Given the description of an element on the screen output the (x, y) to click on. 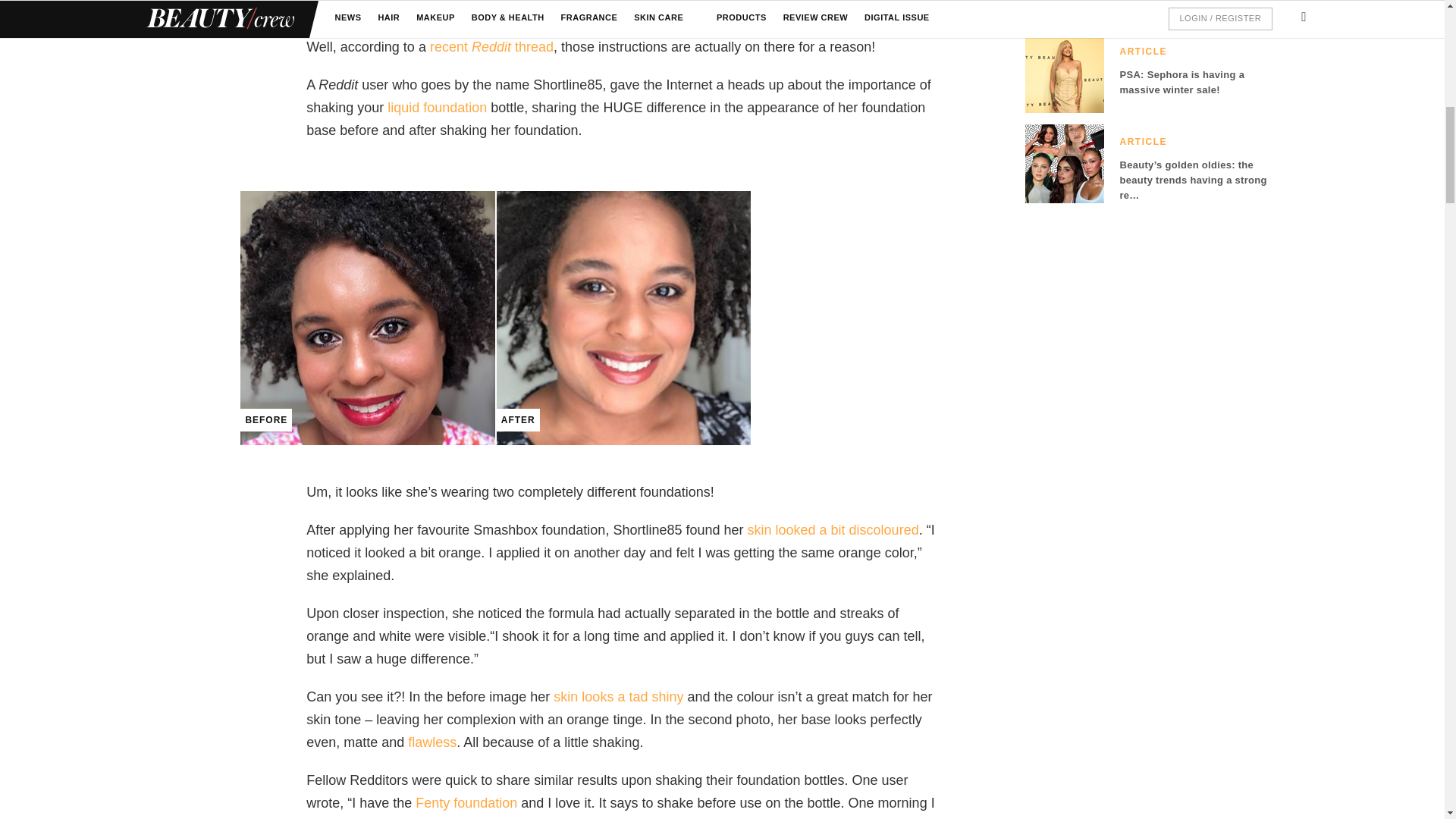
Beauty Crew (436, 107)
Beauty Crew (833, 529)
Beauty Crew (857, 23)
Reddit (491, 46)
Beauty Crew (432, 742)
Beauty Crew (617, 696)
Sephora (465, 802)
